Given the description of an element on the screen output the (x, y) to click on. 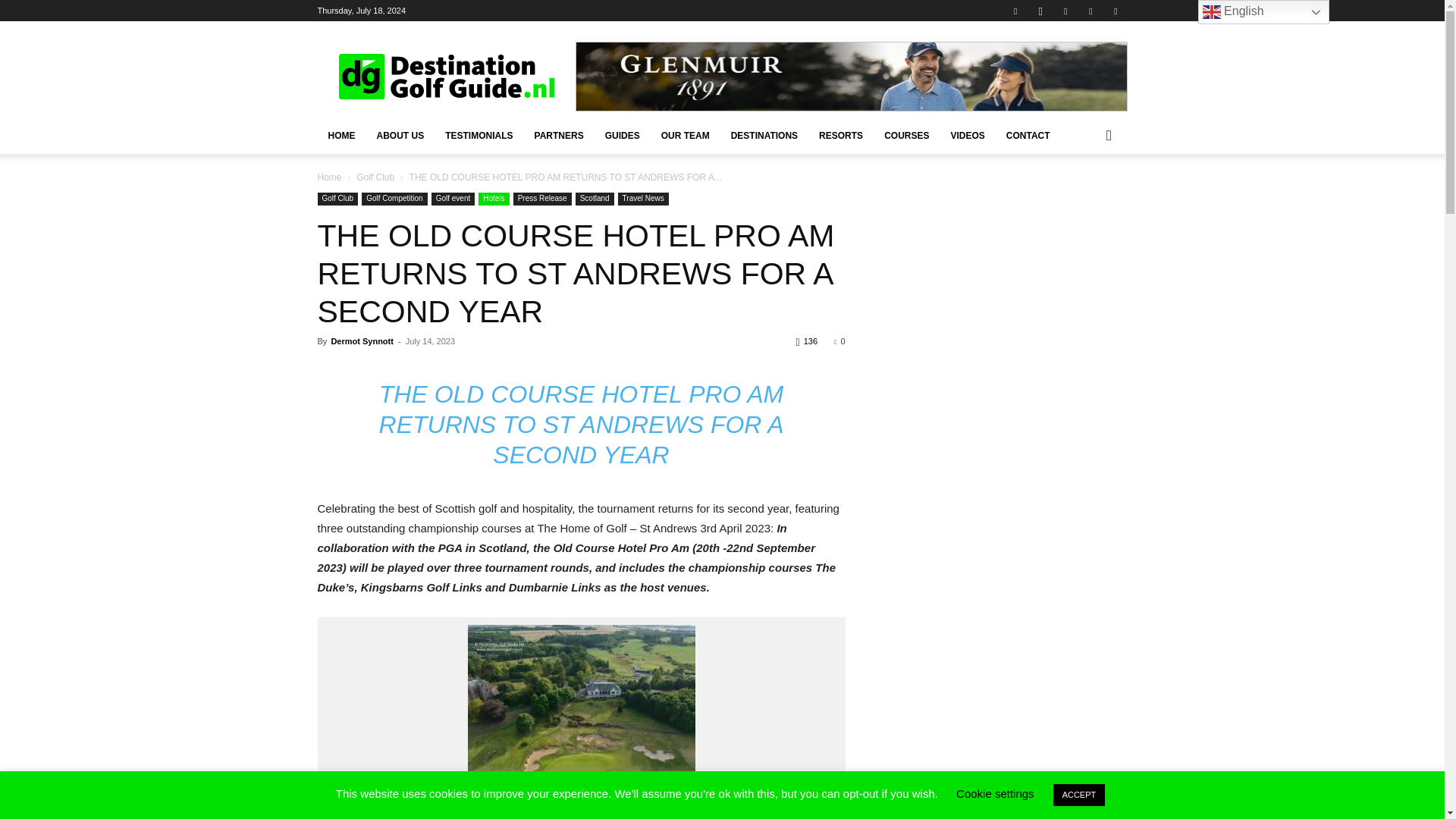
OUR TEAM (685, 135)
Twitter (1090, 10)
Instagram (1040, 10)
PARTNERS (559, 135)
VIDEOS (966, 135)
TESTIMONIALS (477, 135)
Linkedin (1065, 10)
COURSES (906, 135)
RESORTS (840, 135)
Facebook (1015, 10)
Youtube (1114, 10)
DESTINATIONS (764, 135)
View all posts in Golf Club (375, 176)
ABOUT US (399, 135)
CONTACT (1028, 135)
